Given the description of an element on the screen output the (x, y) to click on. 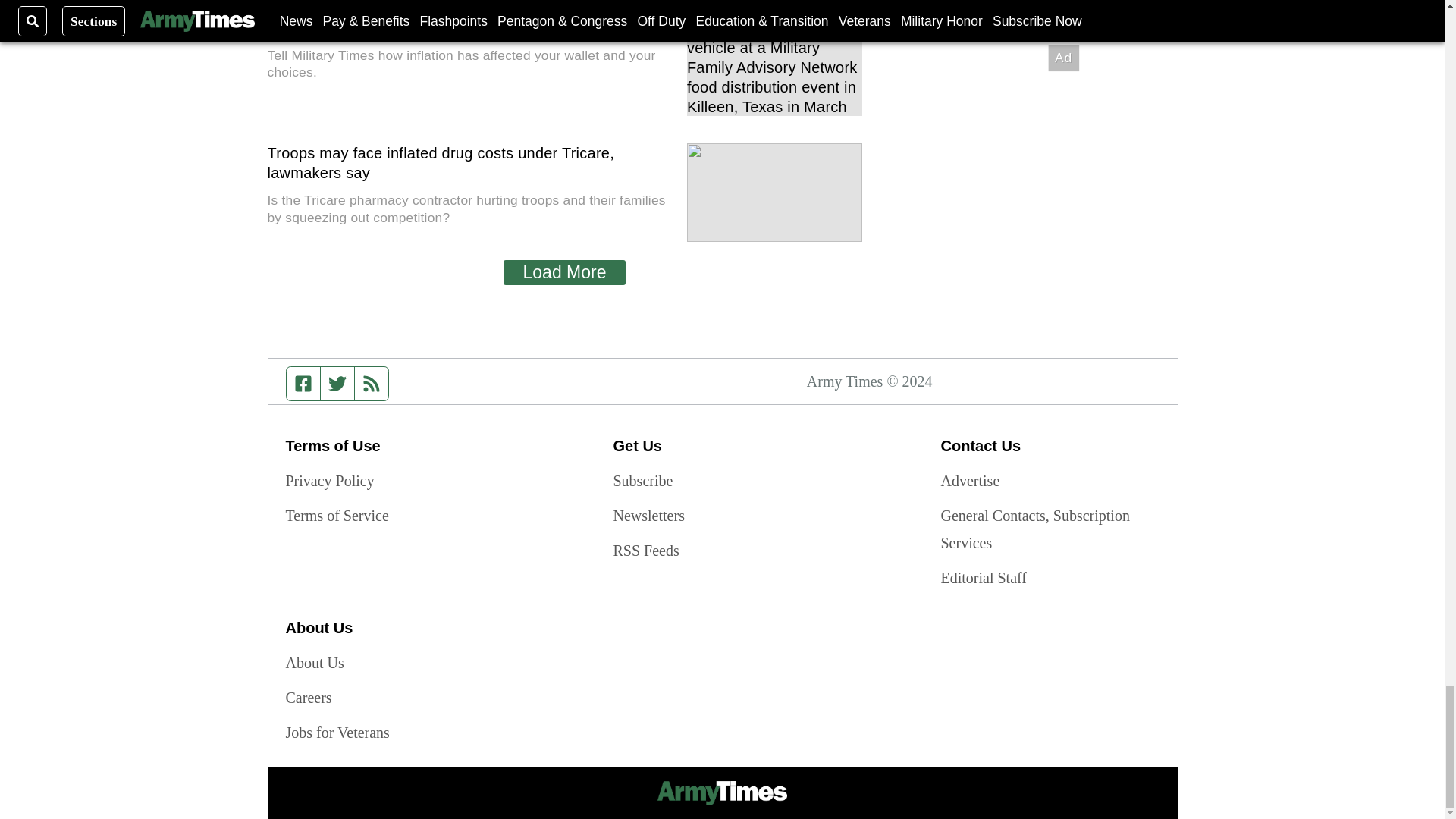
Facebook page (303, 383)
RSS feed (371, 383)
Twitter feed (336, 383)
